Given the description of an element on the screen output the (x, y) to click on. 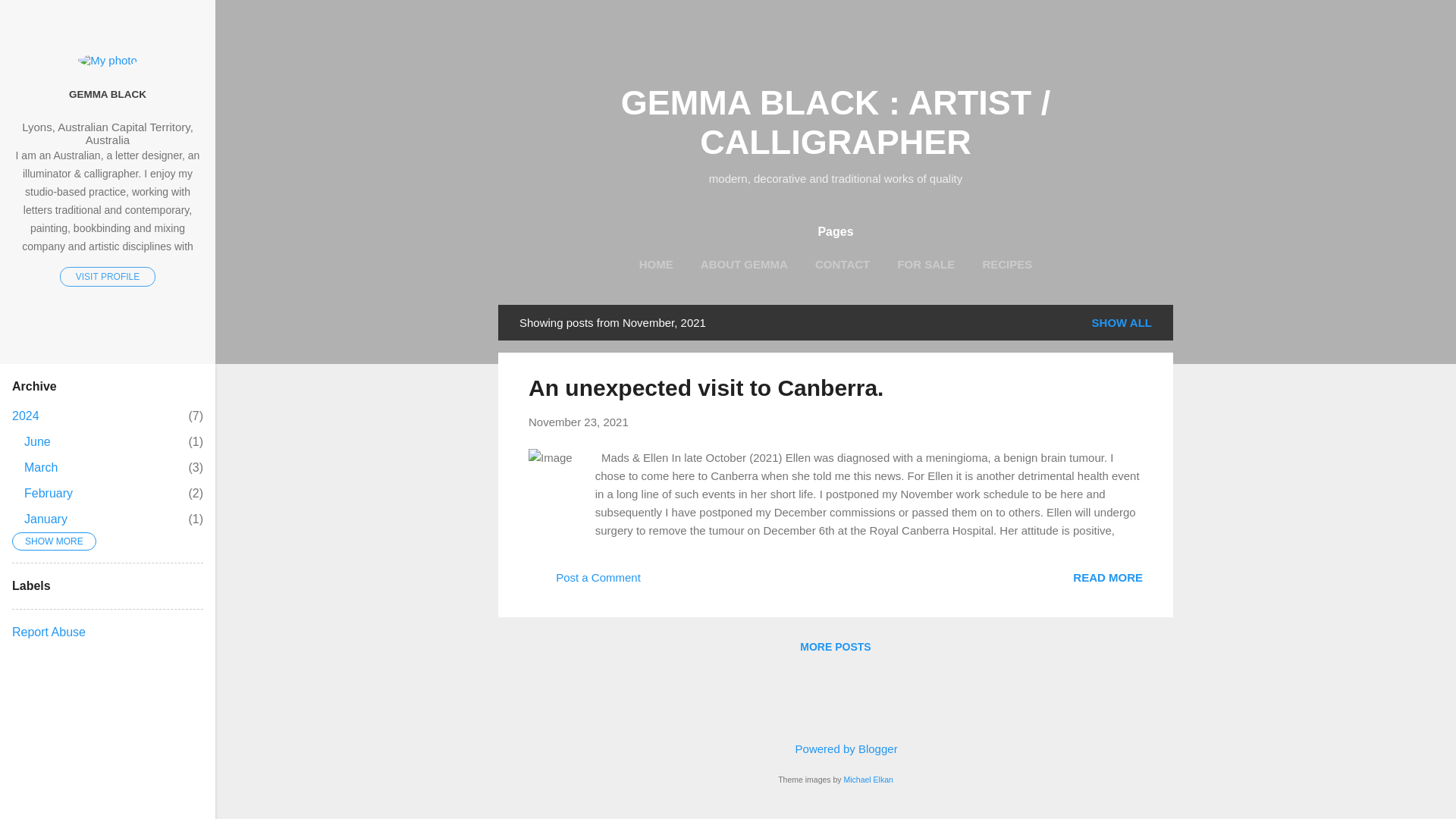
An unexpected visit to Canberra. (1107, 576)
GEMMA BLACK (107, 93)
An unexpected visit to Canberra. (705, 387)
CONTACT (842, 264)
READ MORE (37, 440)
Search (1107, 576)
RECIPES (29, 18)
Michael Elkan (1006, 264)
November 23, 2021 (867, 778)
Powered by Blogger (578, 421)
HOME (834, 748)
More posts (656, 264)
FOR SALE (45, 518)
